Given the description of an element on the screen output the (x, y) to click on. 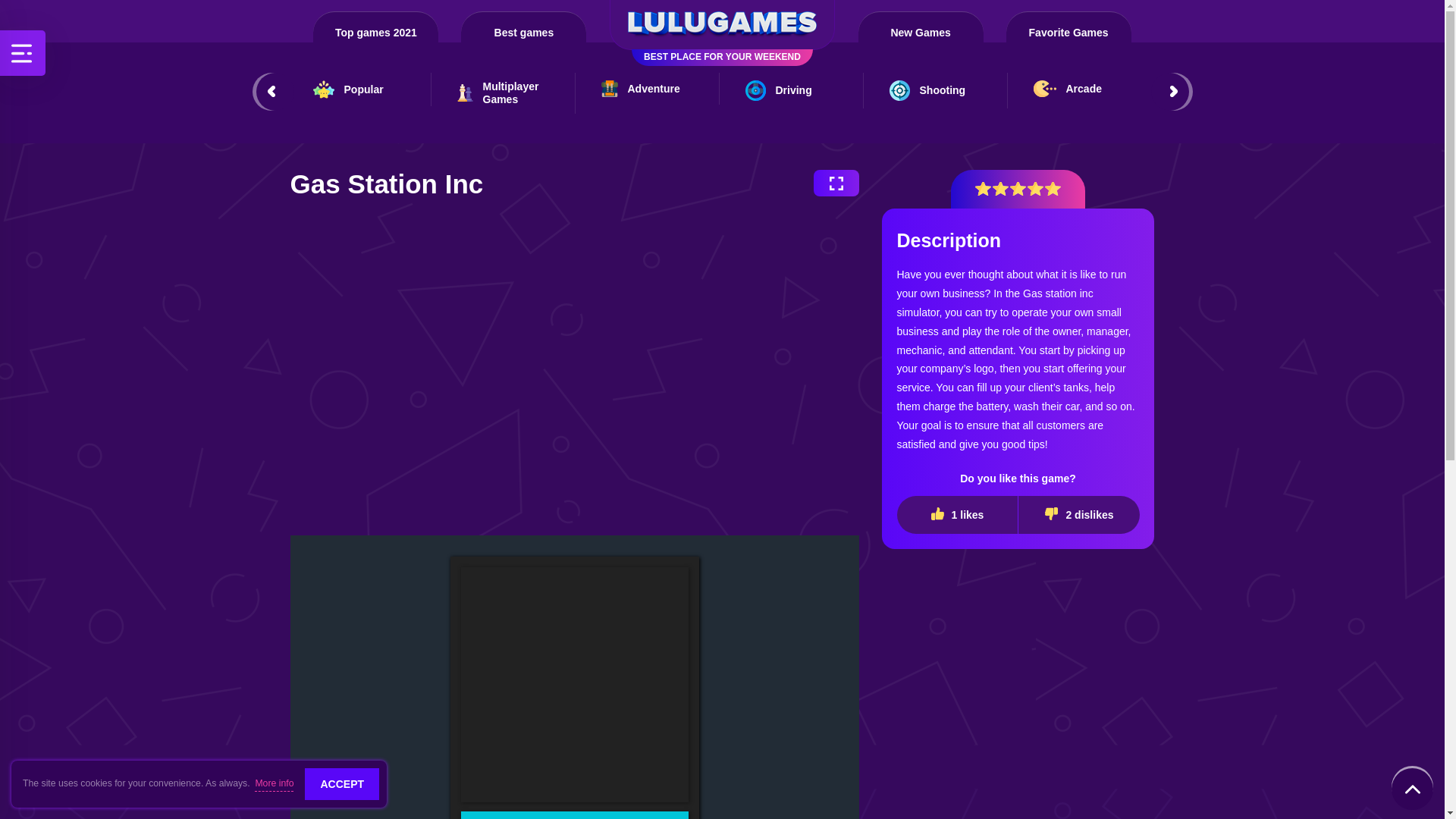
Top games 2021 (375, 26)
BEST PLACE FOR YOUR WEEKEND (722, 24)
New Games (921, 26)
Best games (523, 26)
Favorite Games (1068, 26)
